Given the description of an element on the screen output the (x, y) to click on. 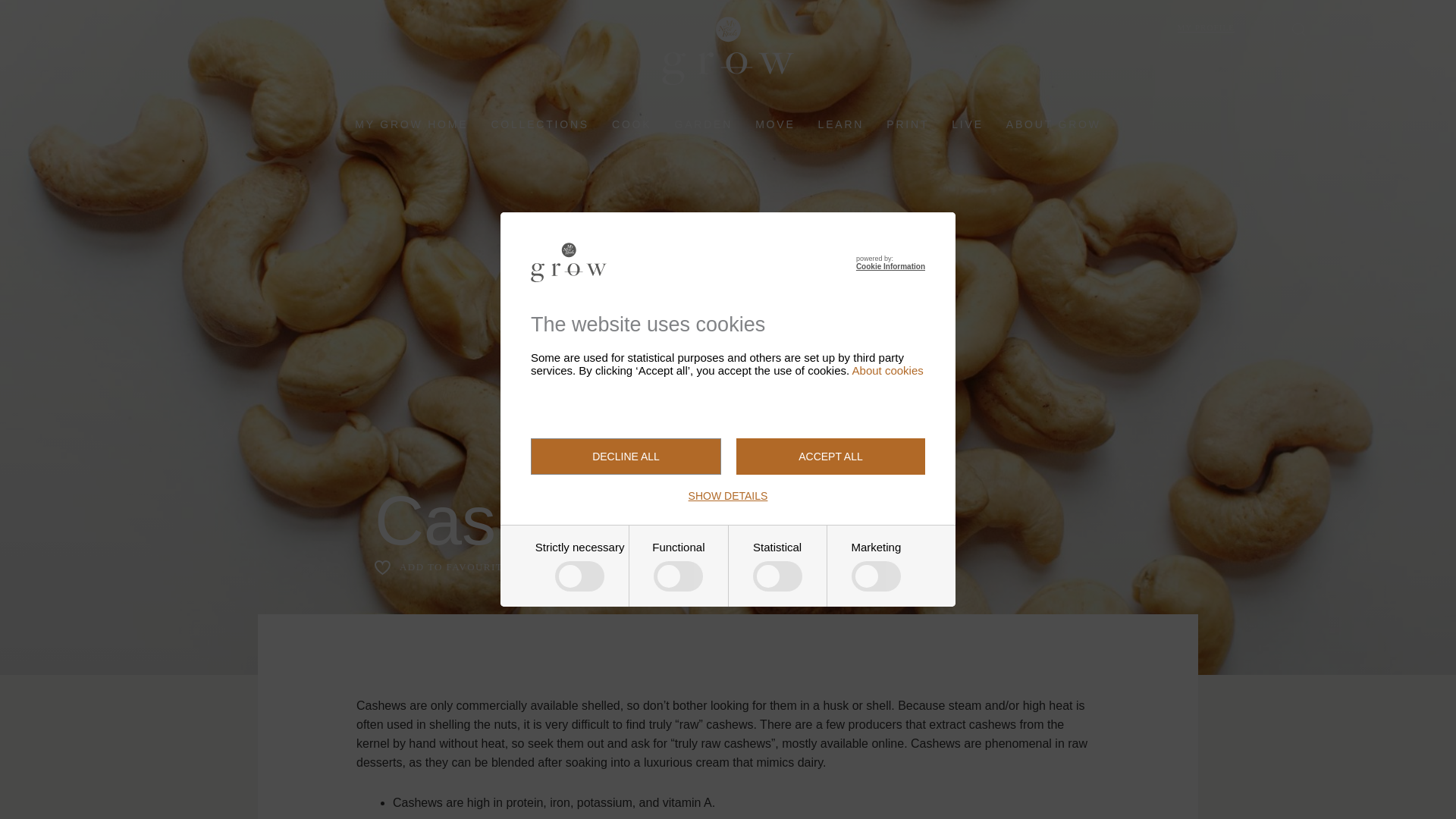
DECLINE ALL (625, 456)
ACCEPT ALL (830, 456)
About cookies (887, 369)
Cookie Information (890, 266)
SHOW DETAILS (728, 495)
